Given the description of an element on the screen output the (x, y) to click on. 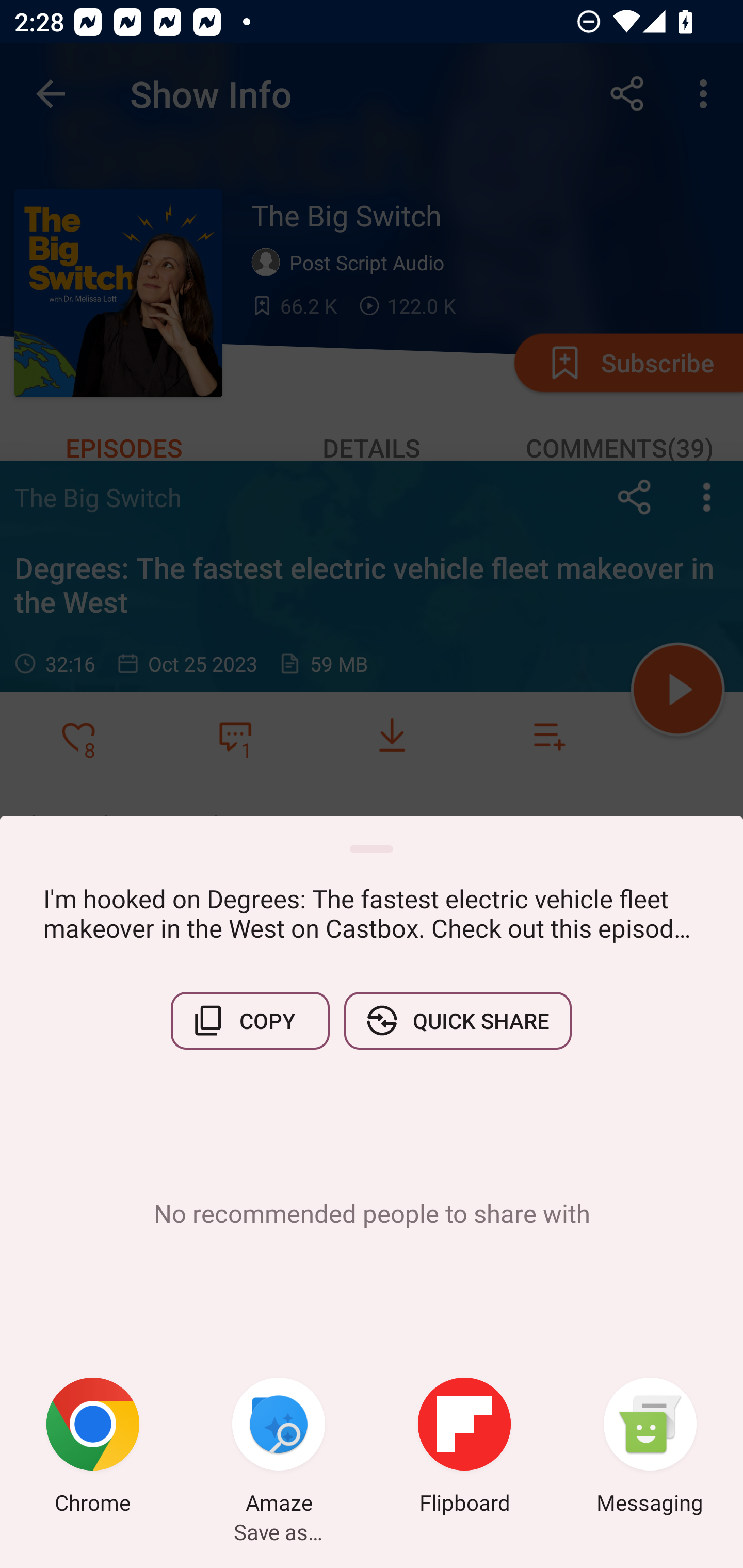
COPY (249, 1020)
QUICK SHARE (457, 1020)
Chrome (92, 1448)
Amaze Save as… (278, 1448)
Flipboard (464, 1448)
Messaging (650, 1448)
